Given the description of an element on the screen output the (x, y) to click on. 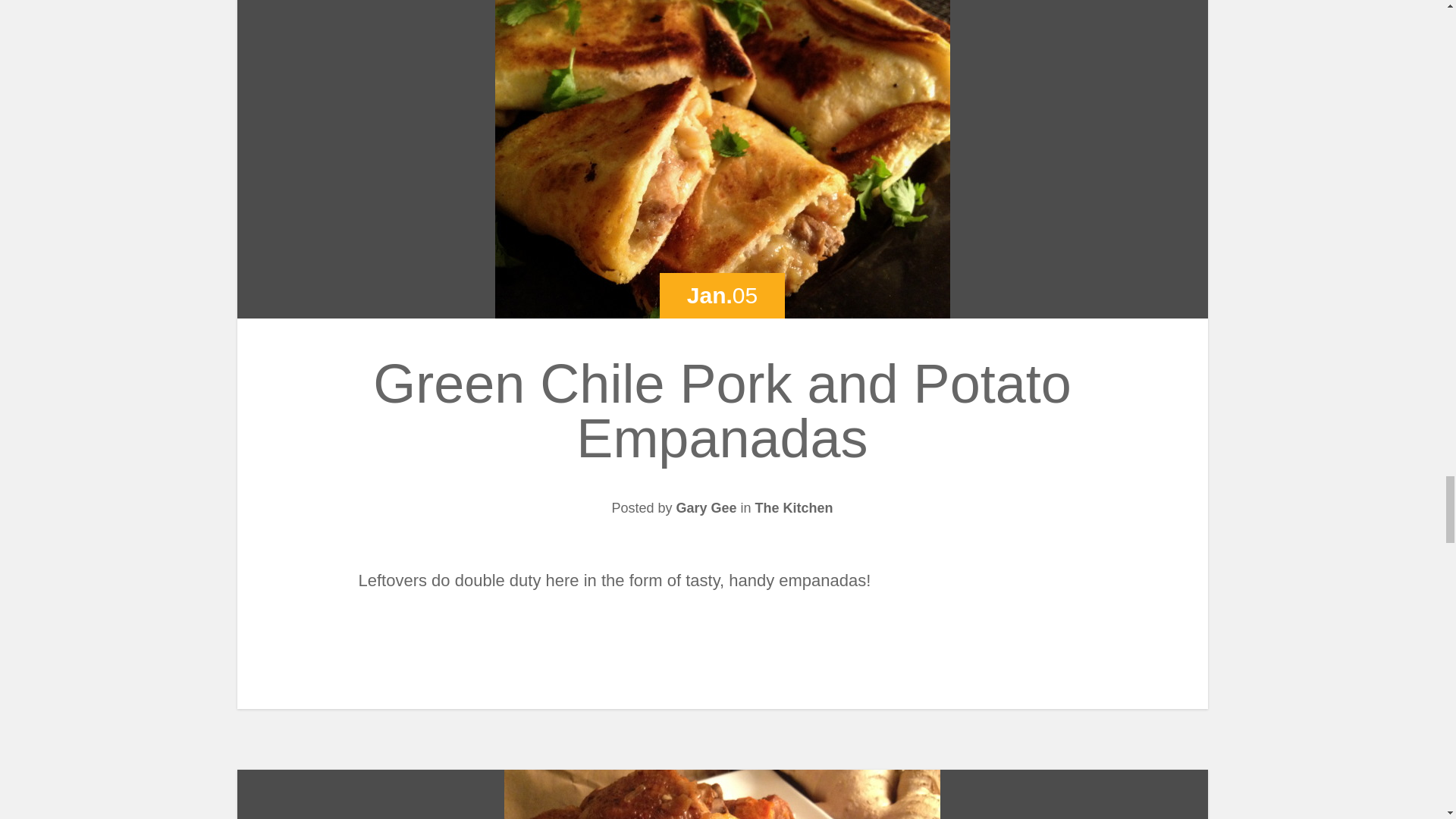
Posts by Gary Gee (705, 507)
